Given the description of an element on the screen output the (x, y) to click on. 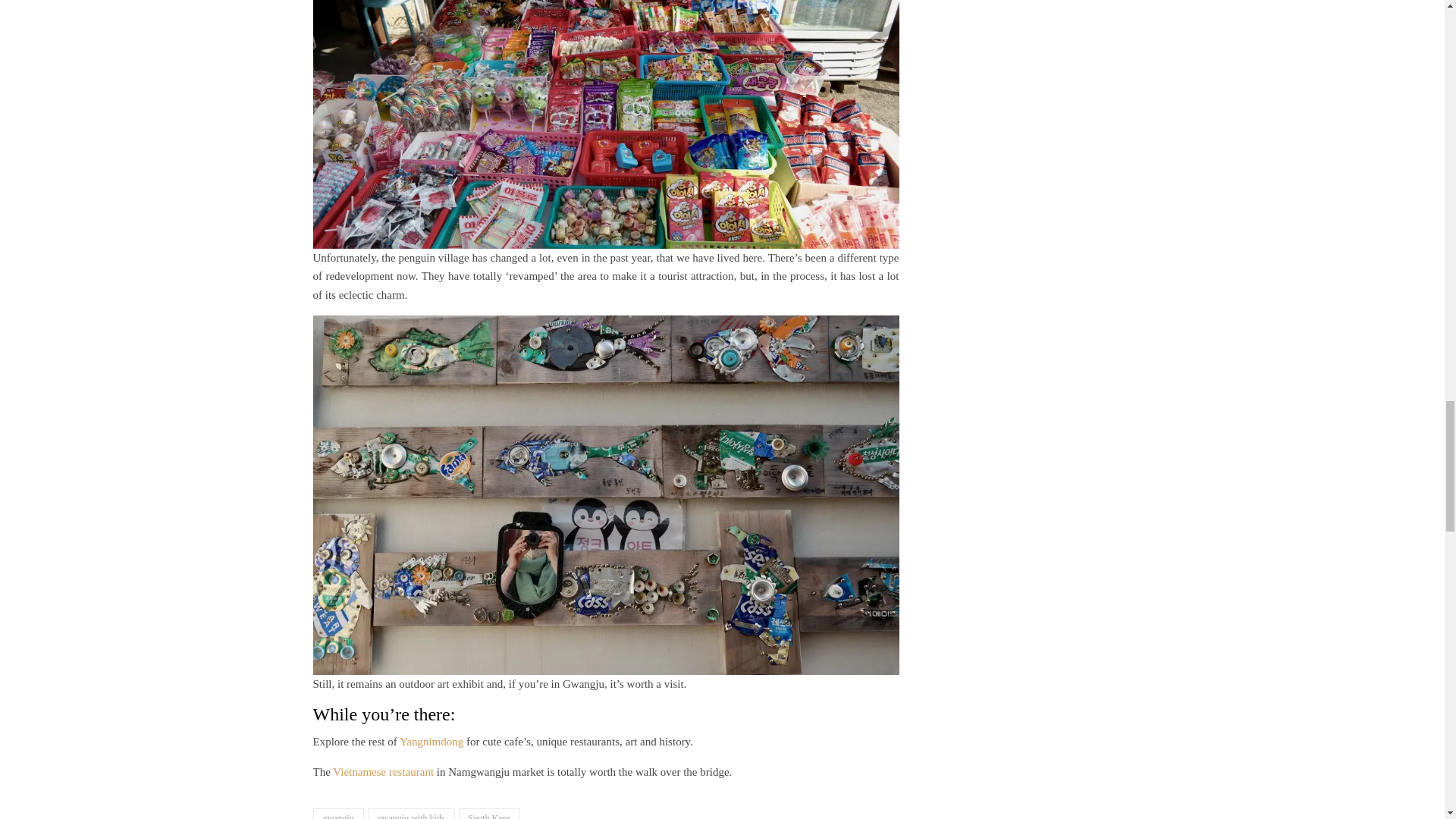
Yangnimdong (431, 741)
South Kore (488, 813)
Vietnamese restaurant (383, 771)
gwangju with kids (411, 813)
gwangju (337, 813)
